Given the description of an element on the screen output the (x, y) to click on. 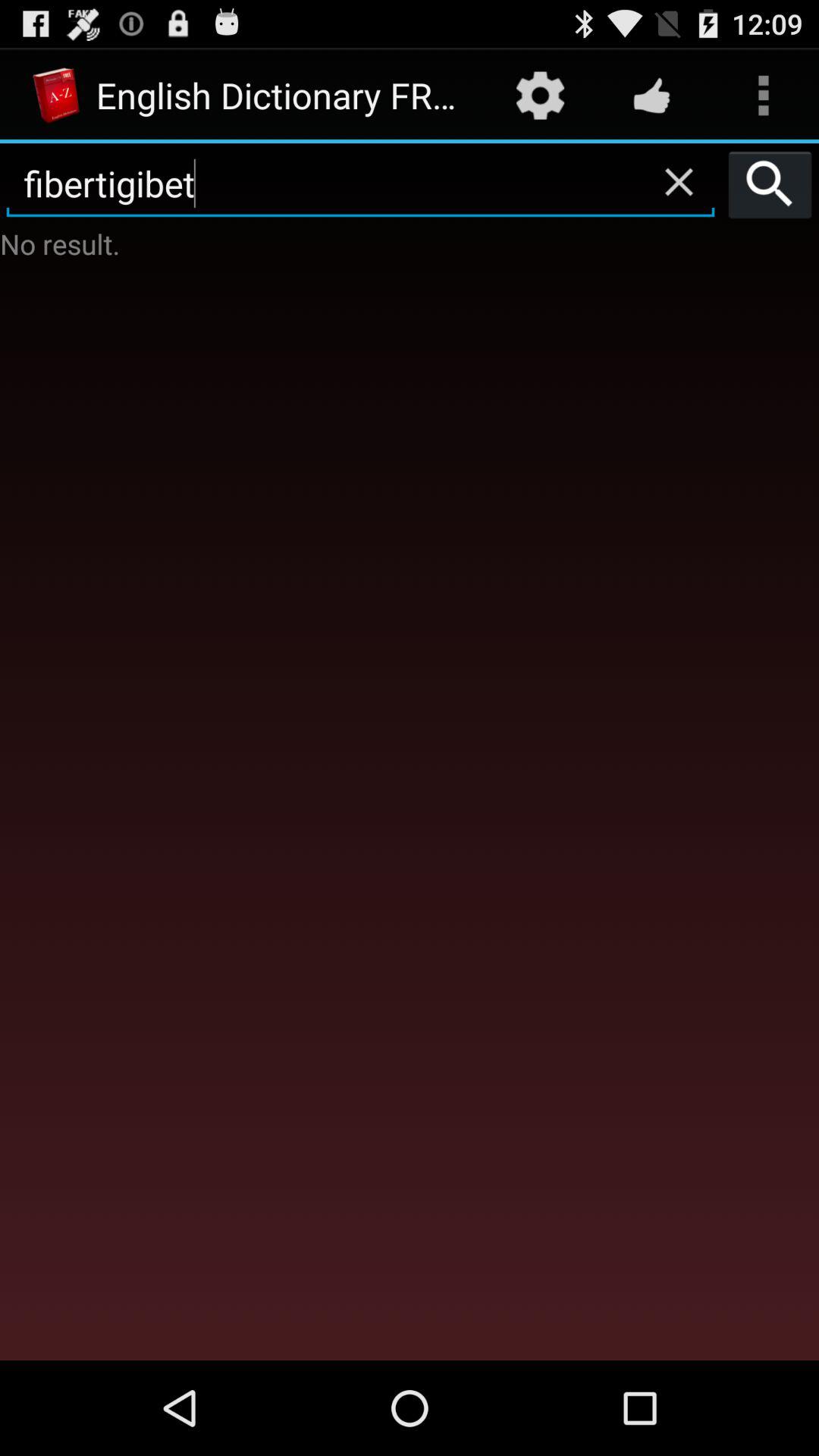
open the item to the right of the english dictionary free app (540, 95)
